Given the description of an element on the screen output the (x, y) to click on. 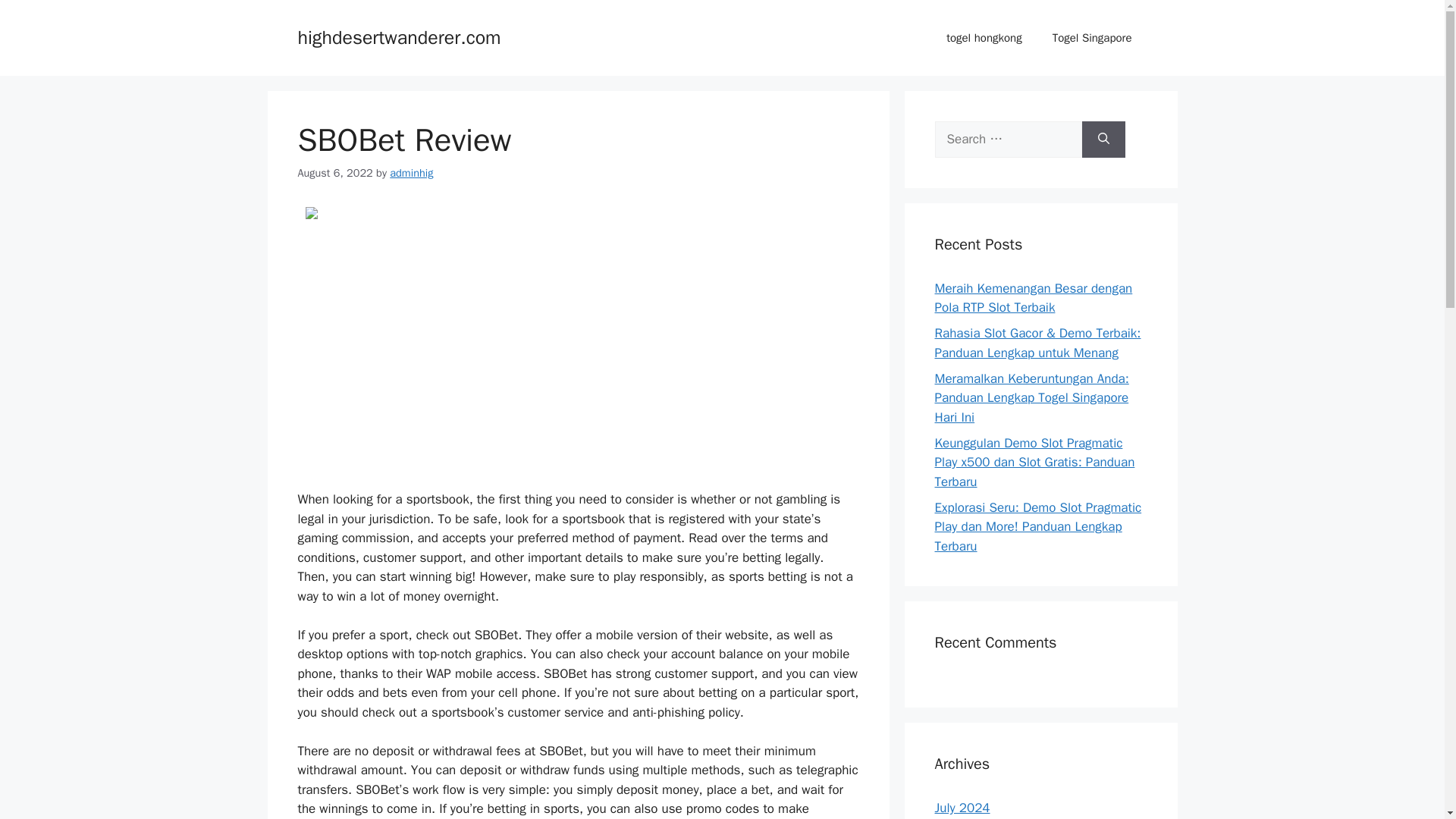
adminhig (411, 172)
Meraih Kemenangan Besar dengan Pola RTP Slot Terbaik (1033, 298)
highdesertwanderer.com (398, 37)
View all posts by adminhig (411, 172)
togel hongkong (983, 37)
July 2024 (962, 807)
Togel Singapore (1091, 37)
Search for: (1007, 139)
